Given the description of an element on the screen output the (x, y) to click on. 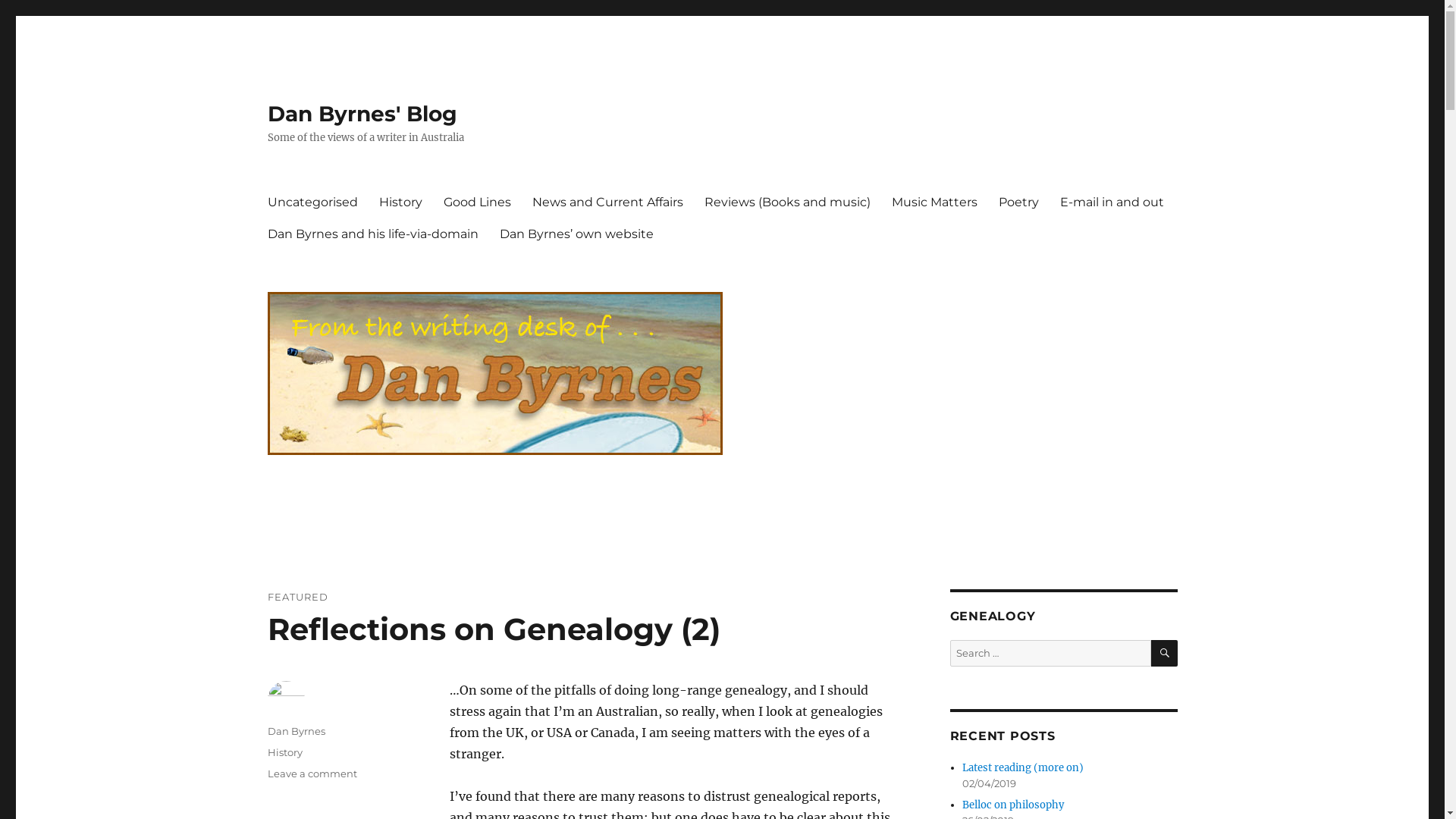
Uncategorised Element type: text (311, 201)
News and Current Affairs Element type: text (607, 201)
Leave a comment
on Reflections on Genealogy (2) Element type: text (311, 773)
History Element type: text (400, 201)
Poetry Element type: text (1017, 201)
Reflections on Genealogy (2) Element type: text (492, 628)
Music Matters Element type: text (934, 201)
Dan Byrnes Element type: text (295, 730)
Latest reading (more on) Element type: text (1022, 767)
Good Lines Element type: text (476, 201)
Belloc on philosophy Element type: text (1012, 804)
Dan Byrnes and his life-via-domain Element type: text (372, 233)
E-mail in and out Element type: text (1111, 201)
History Element type: text (283, 752)
Dan Byrnes' Blog Element type: text (361, 113)
SEARCH Element type: text (1164, 653)
Reviews (Books and music) Element type: text (786, 201)
